Given the description of an element on the screen output the (x, y) to click on. 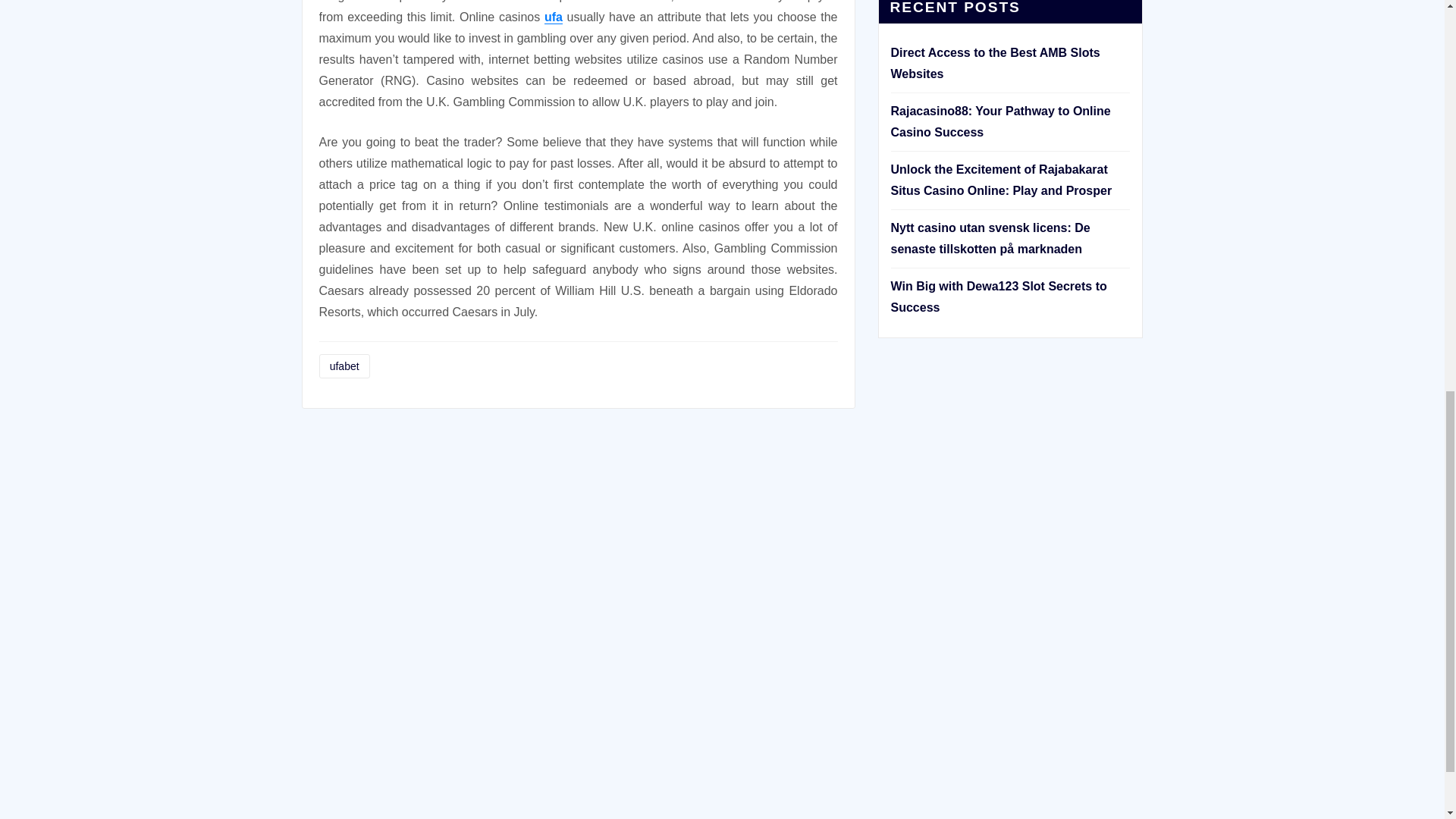
Rajacasino88: Your Pathway to Online Casino Success (999, 121)
Direct Access to the Best AMB Slots Websites (994, 62)
ufabet (343, 366)
Win Big with Dewa123 Slot Secrets to Success (997, 296)
ufa (553, 16)
